Given the description of an element on the screen output the (x, y) to click on. 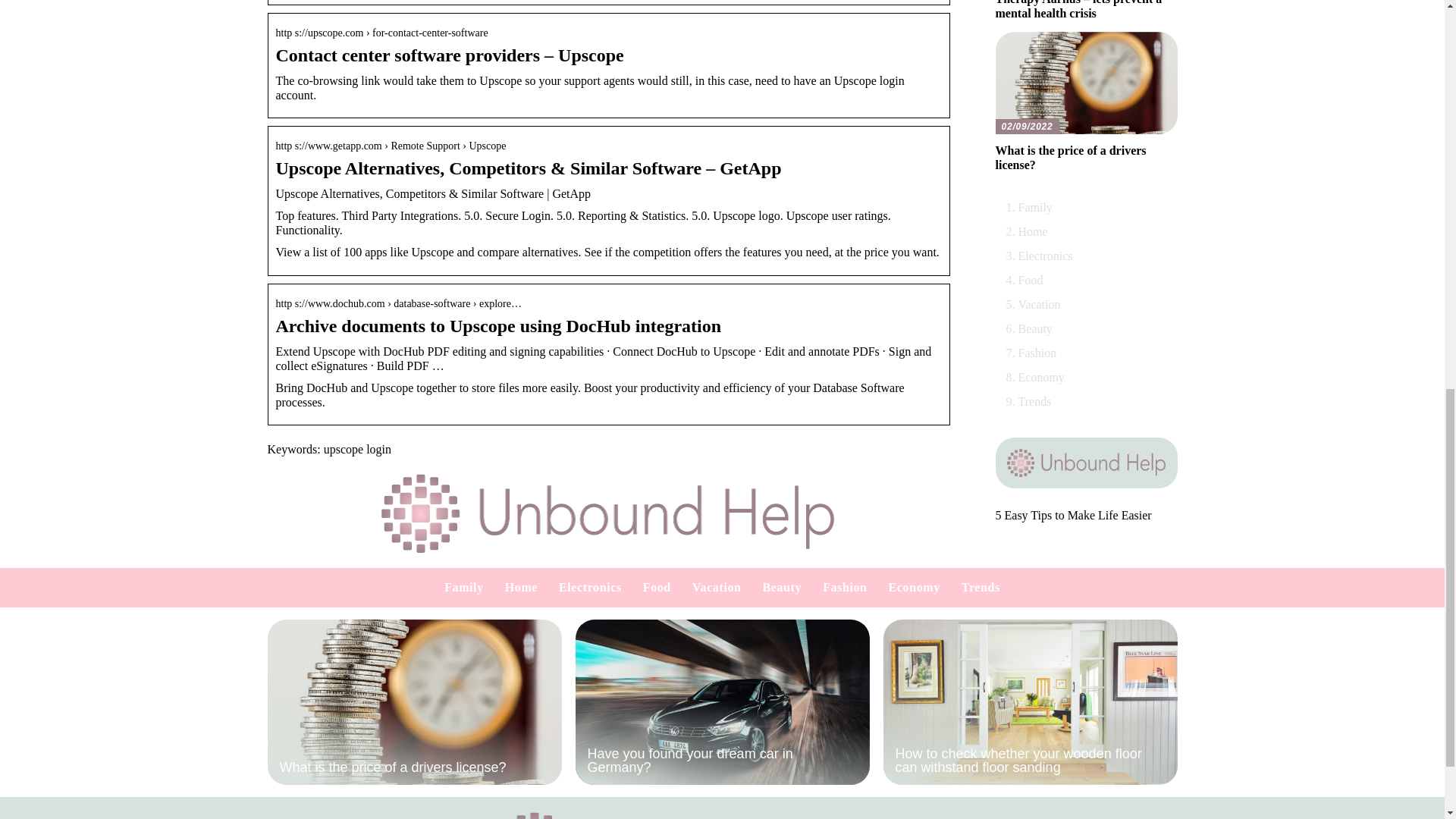
Economy (1040, 377)
Food (657, 586)
Electronics (590, 586)
Trends (1034, 400)
What is the price of a drivers license? (413, 701)
Home (1031, 231)
5 Easy Tips to Make Life Easier (1072, 514)
Electronics (1044, 255)
Beauty (782, 586)
